Given the description of an element on the screen output the (x, y) to click on. 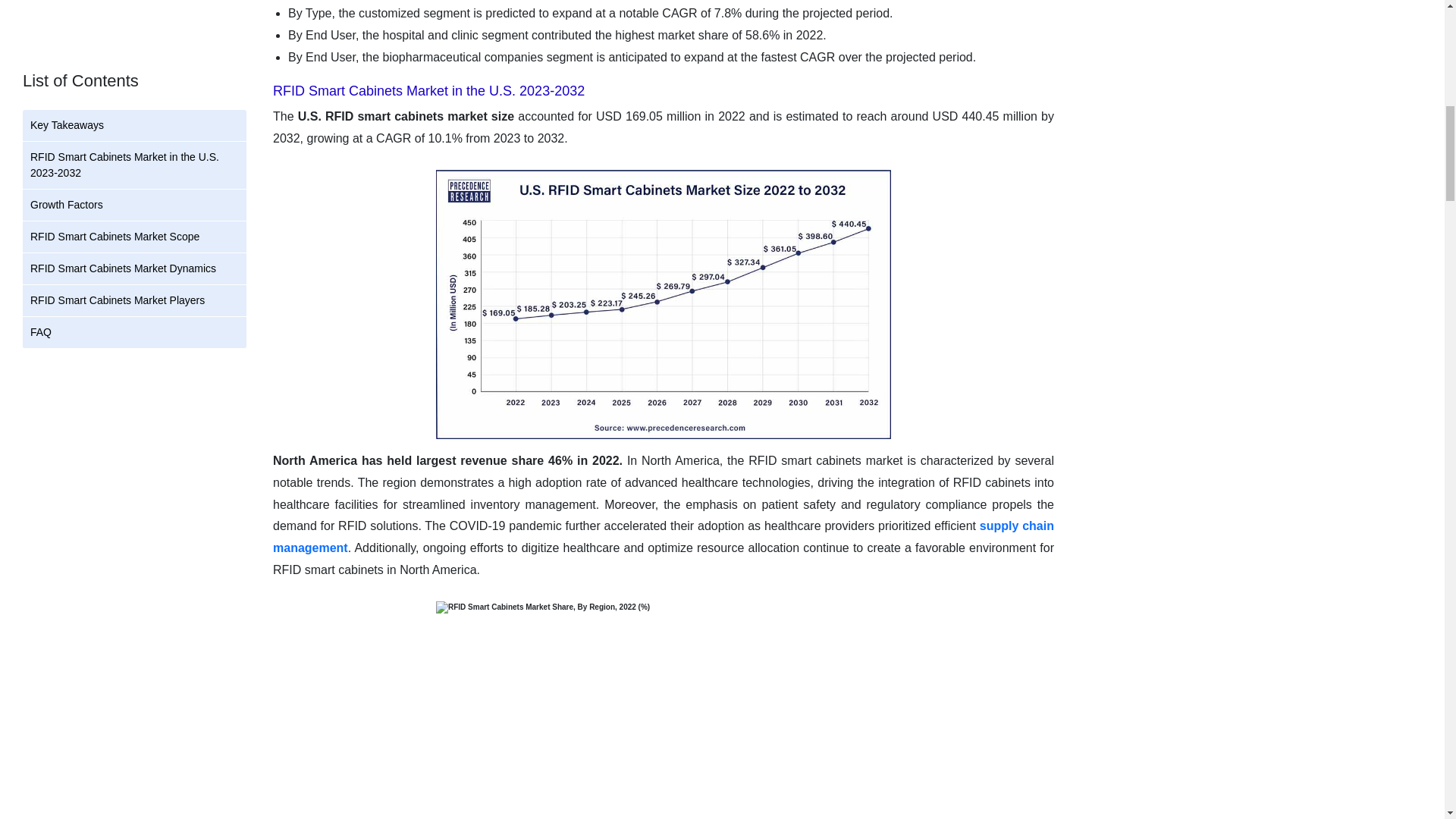
U.S. RFID Smart Cabinets Market Size 2023 To 2032 (663, 306)
